Given the description of an element on the screen output the (x, y) to click on. 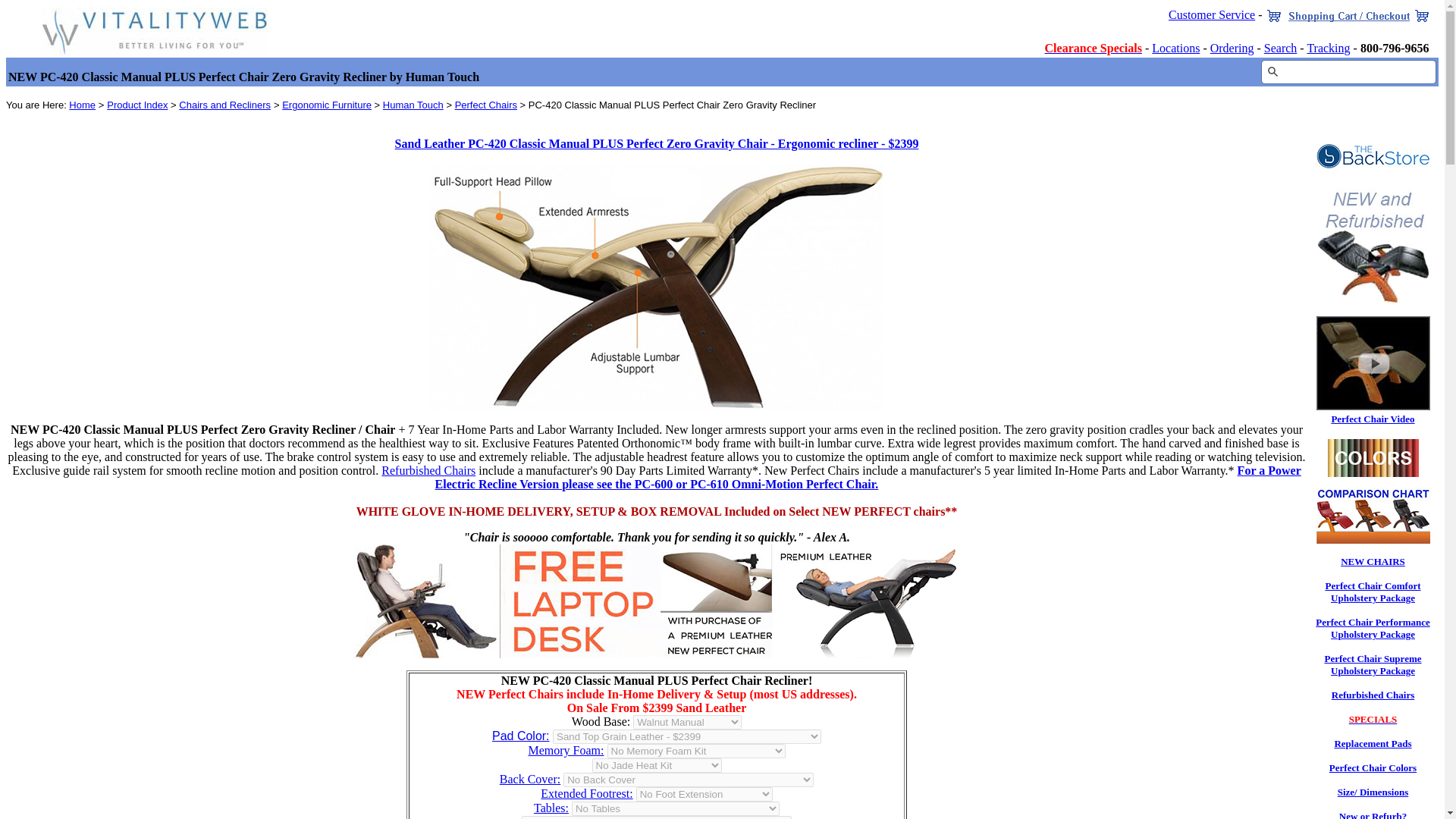
Home (82, 104)
NEW CHAIRS (1372, 561)
Human Touch (413, 104)
Perfect Chairs (485, 104)
Perfect Chair Colors (1372, 767)
Ergonomic Furniture (326, 104)
Tracking (1327, 47)
Replacement Pads (1371, 743)
SPECIALS (1373, 718)
Ordering (1231, 47)
Chairs and Recliners (224, 104)
Search (1280, 47)
Product Index (136, 104)
Perfect Chair Performance Upholstery Package (1372, 627)
Clearance Specials (1093, 47)
